Given the description of an element on the screen output the (x, y) to click on. 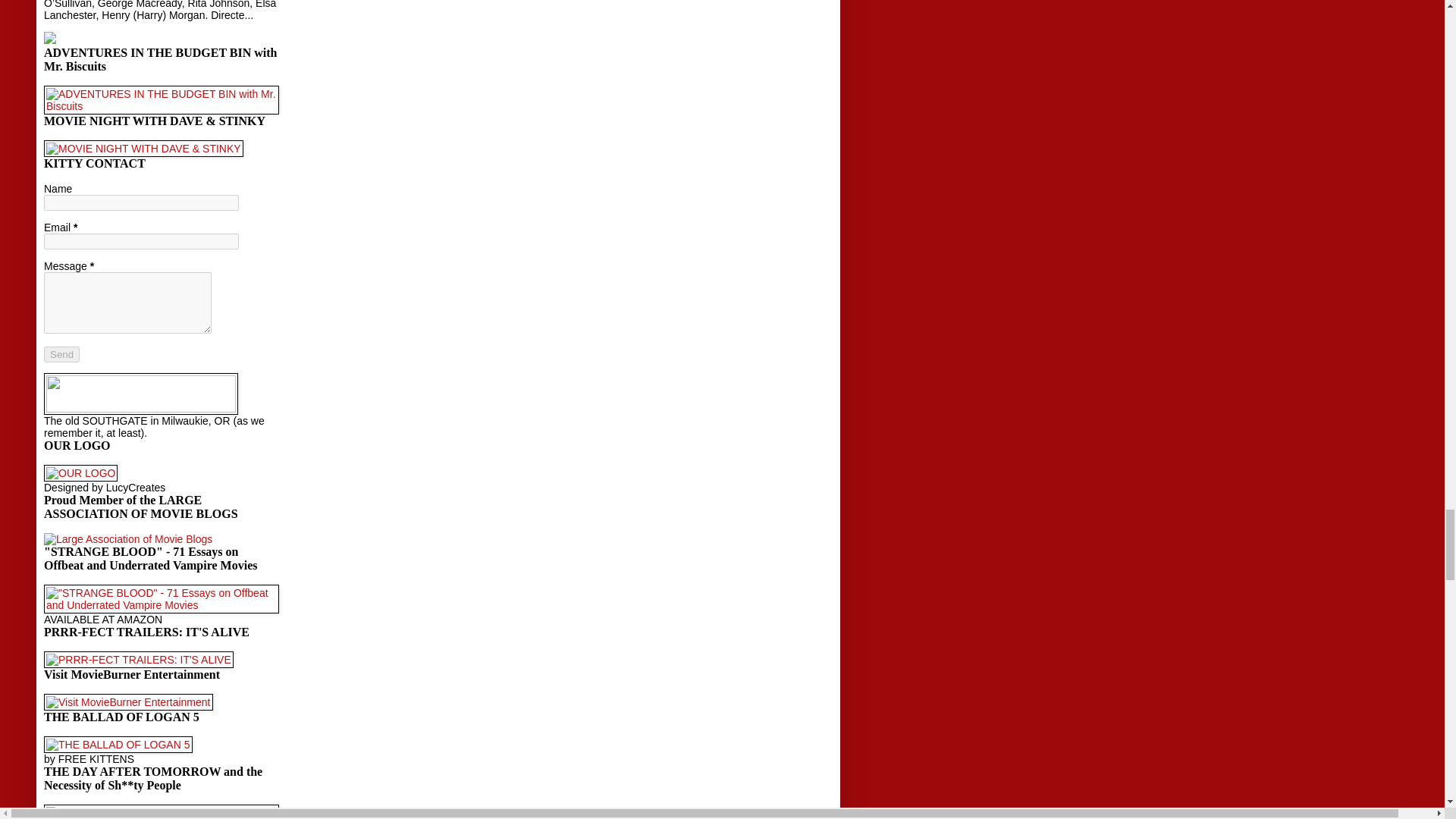
Send (61, 354)
